Given the description of an element on the screen output the (x, y) to click on. 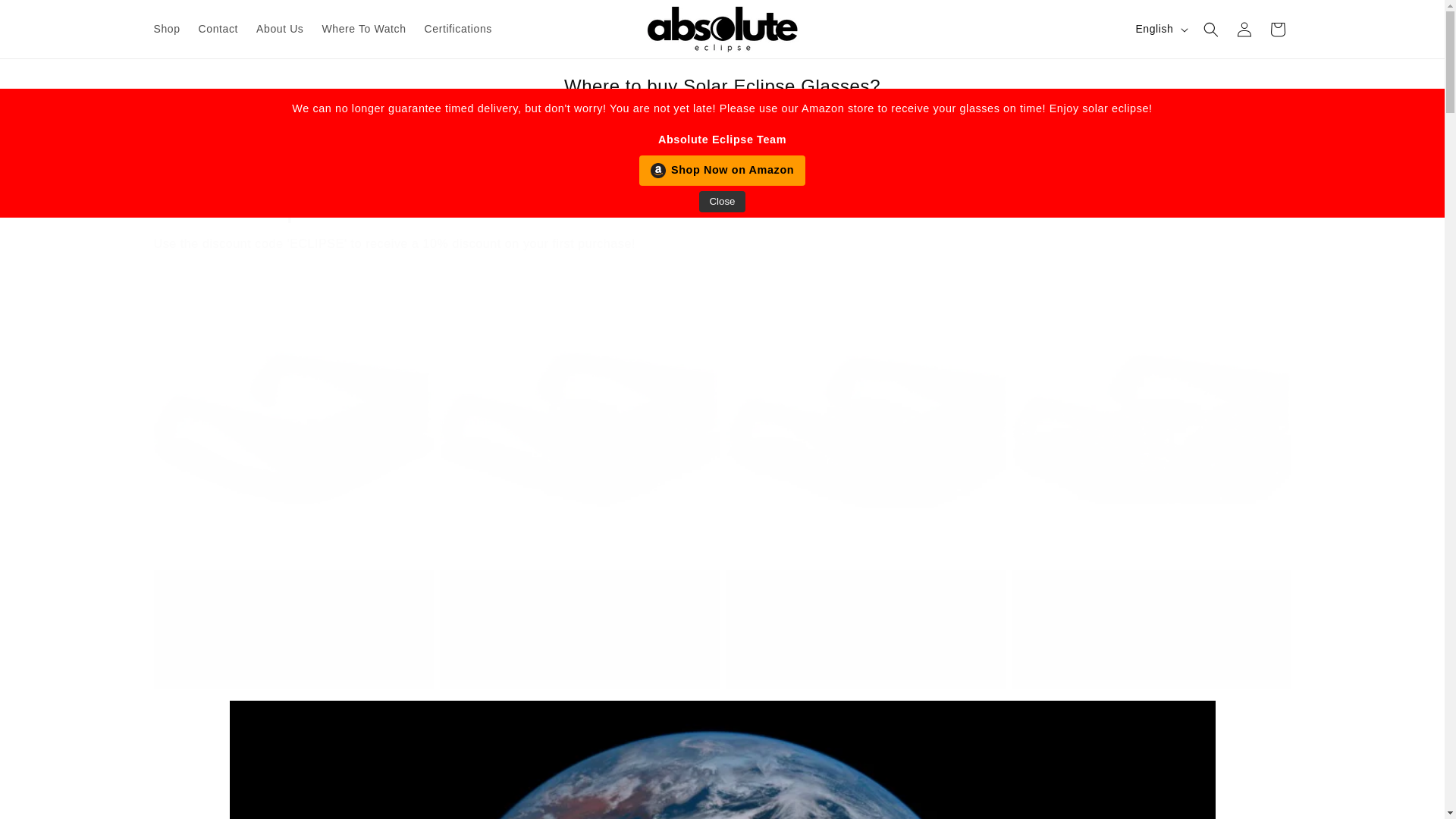
English (1159, 29)
Solar Eclipse Glasses - Sunburst (292, 595)
Solar Eclipse Glasses Available Online (721, 206)
Buy on Amazon (865, 655)
Buy on Amazon (579, 655)
Where To Watch (363, 29)
Shop (166, 29)
Contact (218, 29)
Skip to content (45, 17)
Cart (1277, 28)
About Us (280, 29)
Solar Eclipse Glasses - Neon Stickers (864, 595)
Buy on Amazon (293, 655)
Certifications (457, 29)
Solar Eclipse Glasses - Reflective (579, 595)
